Given the description of an element on the screen output the (x, y) to click on. 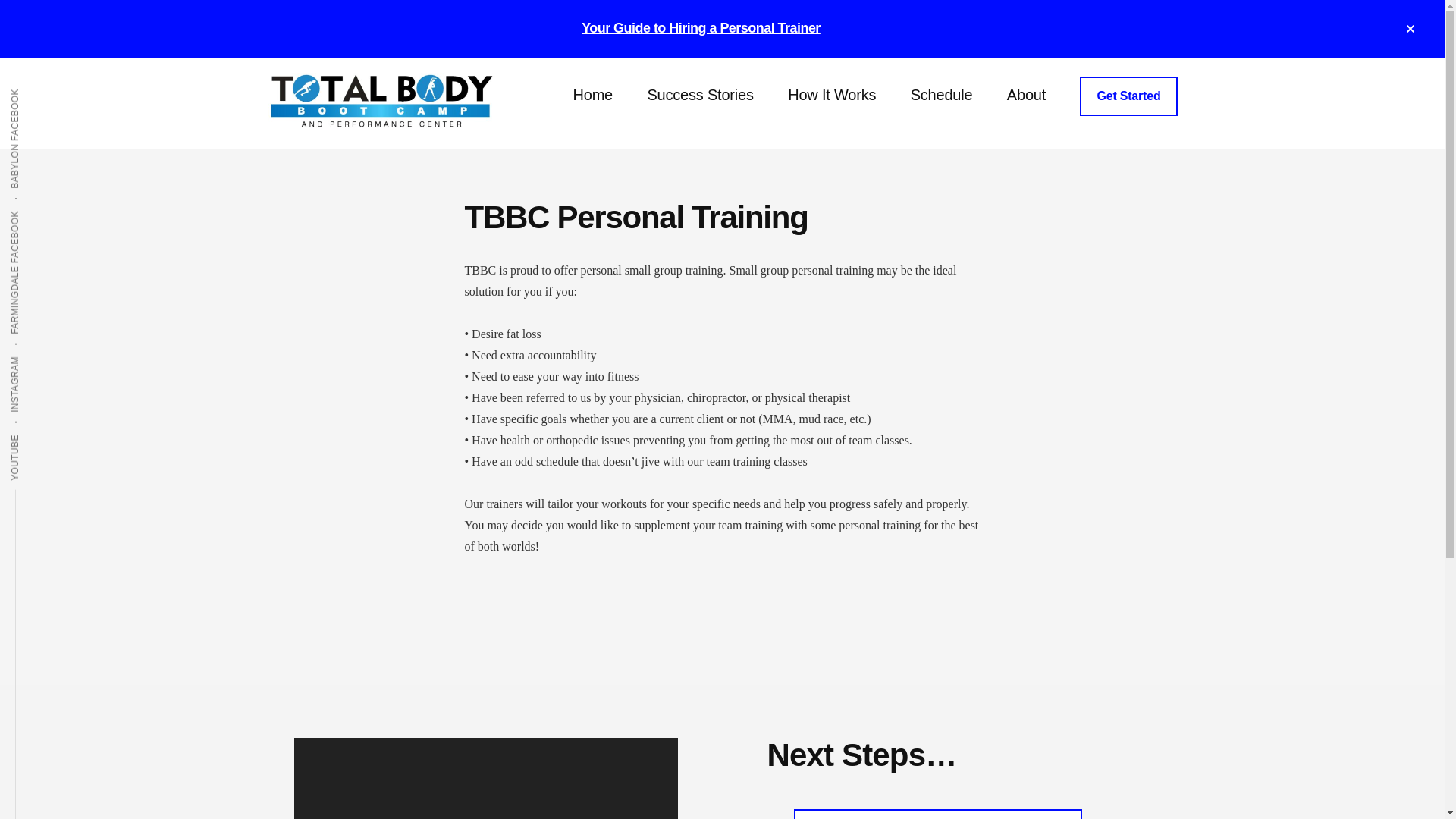
Get Started (1128, 96)
INSTAGRAM (44, 355)
FARMINGDALE FACEBOOK (78, 209)
Home (592, 94)
About (1026, 94)
BABYLON FACEBOOK (66, 87)
Schedule (941, 94)
Your Guide to Hiring a Personal Trainer (700, 28)
How It Works (832, 94)
